Given the description of an element on the screen output the (x, y) to click on. 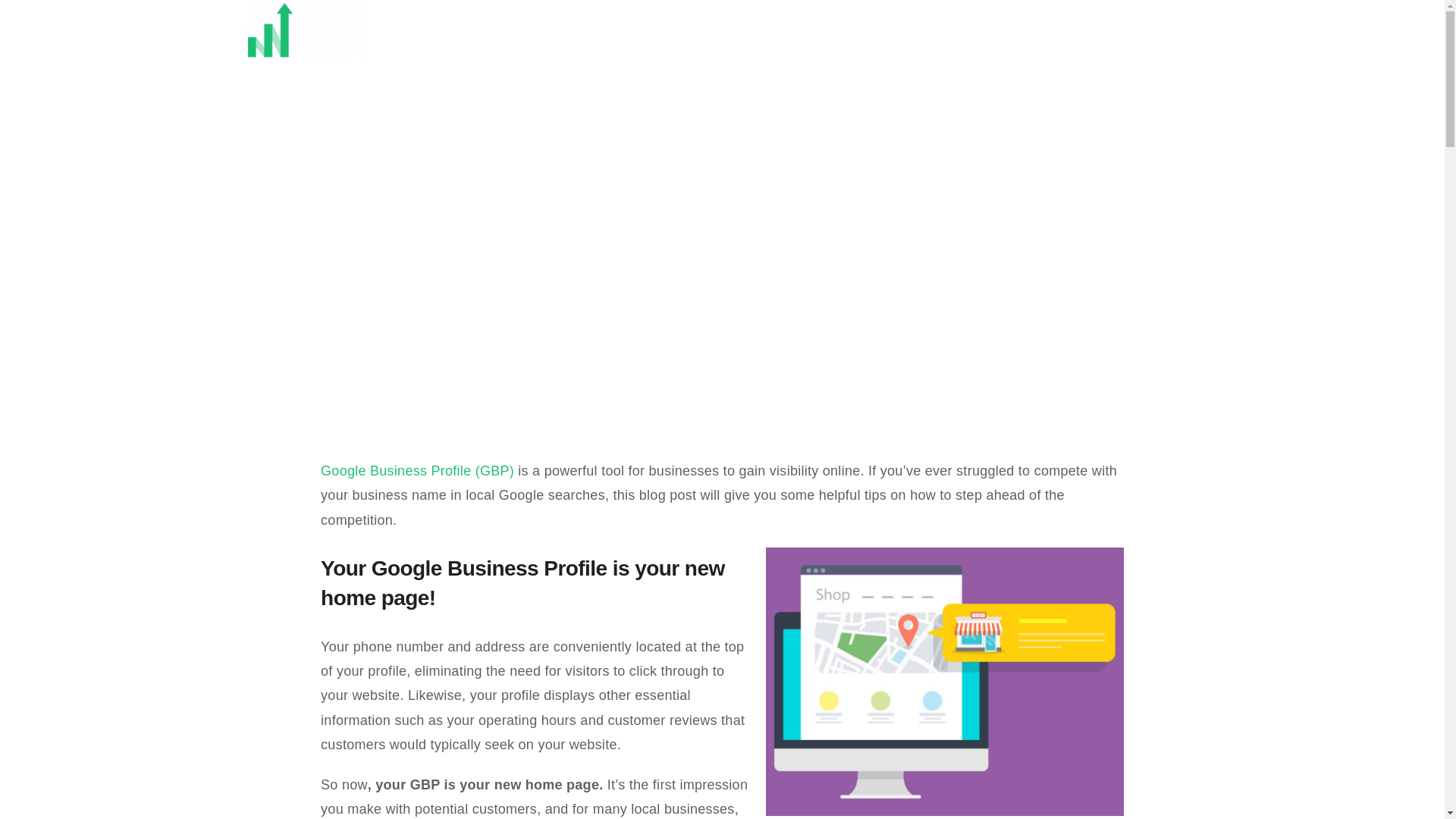
What We Do (618, 37)
Home (475, 37)
Contact (930, 37)
Who We Are (780, 37)
Blog (1055, 37)
